Given the description of an element on the screen output the (x, y) to click on. 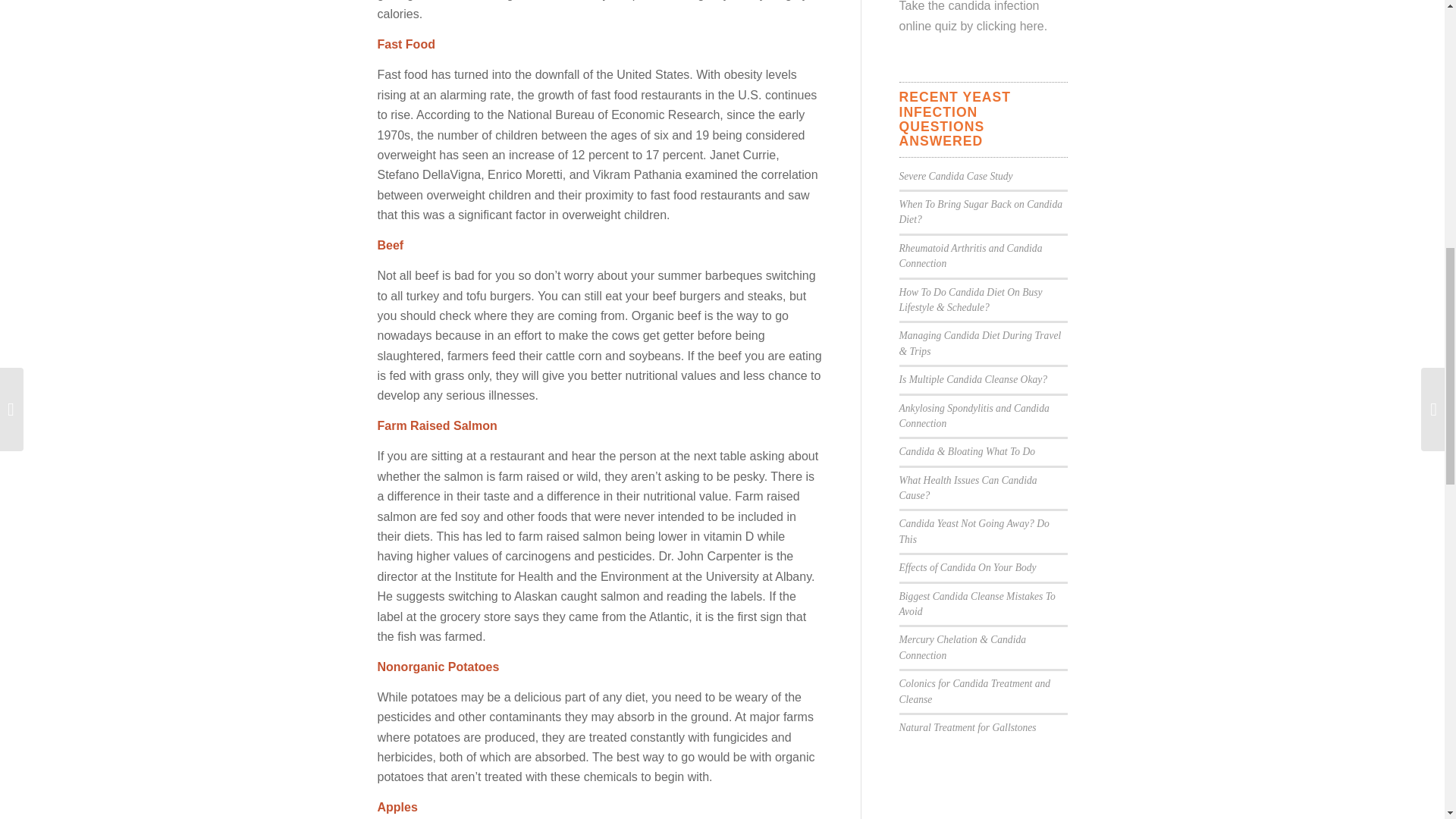
Rheumatoid Arthritis and Candida Connection (970, 255)
Is Multiple Candida Cleanse Okay? (973, 378)
Ankylosing Spondylitis and Candida Connection (974, 415)
When To Bring Sugar Back on Candida Diet? (980, 212)
Severe Candida Case Study (956, 175)
Candida Yeast Not Going Away? Do This (974, 530)
What Health Issues Can Candida Cause? (967, 488)
clicking here. (1011, 25)
